Given the description of an element on the screen output the (x, y) to click on. 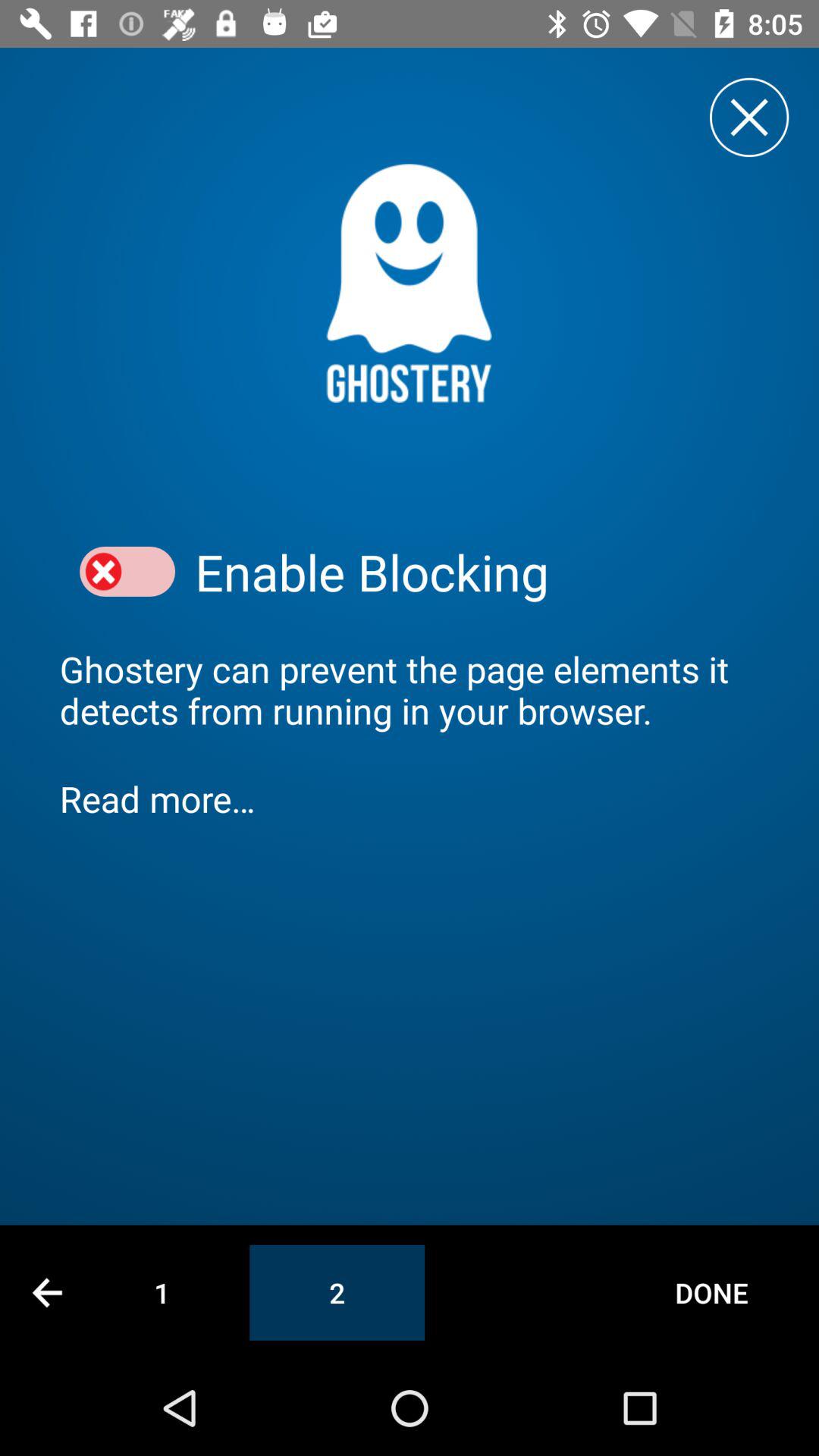
press to go back to previous page (46, 1292)
